Given the description of an element on the screen output the (x, y) to click on. 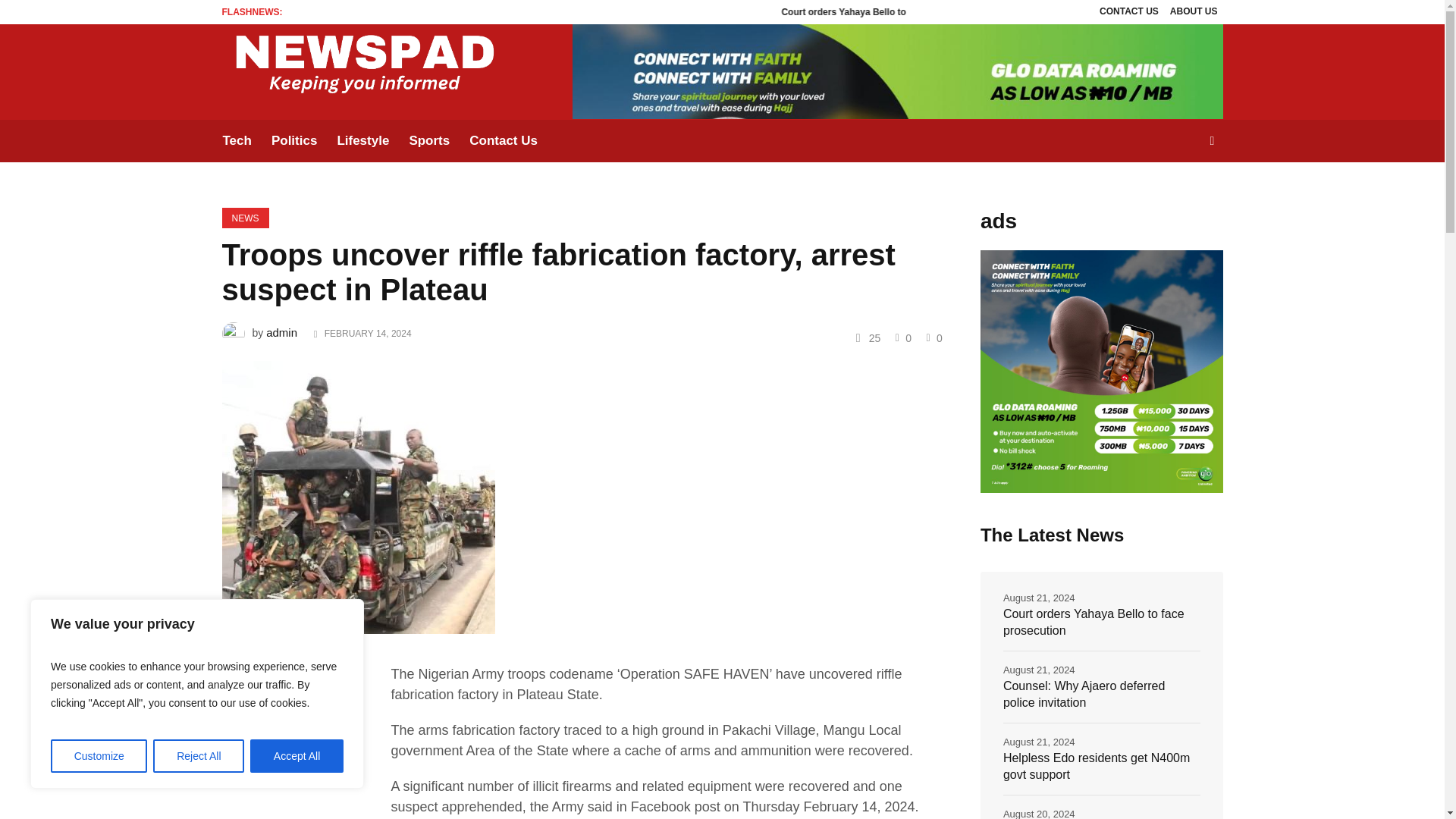
Court orders Yahaya Bello to face prosecution (959, 11)
CONTACT US (1128, 11)
Customize (98, 756)
ABOUT US (1193, 11)
Court orders Yahaya Bello to face prosecution (984, 11)
Accept All (296, 756)
Reject All (198, 756)
